Given the description of an element on the screen output the (x, y) to click on. 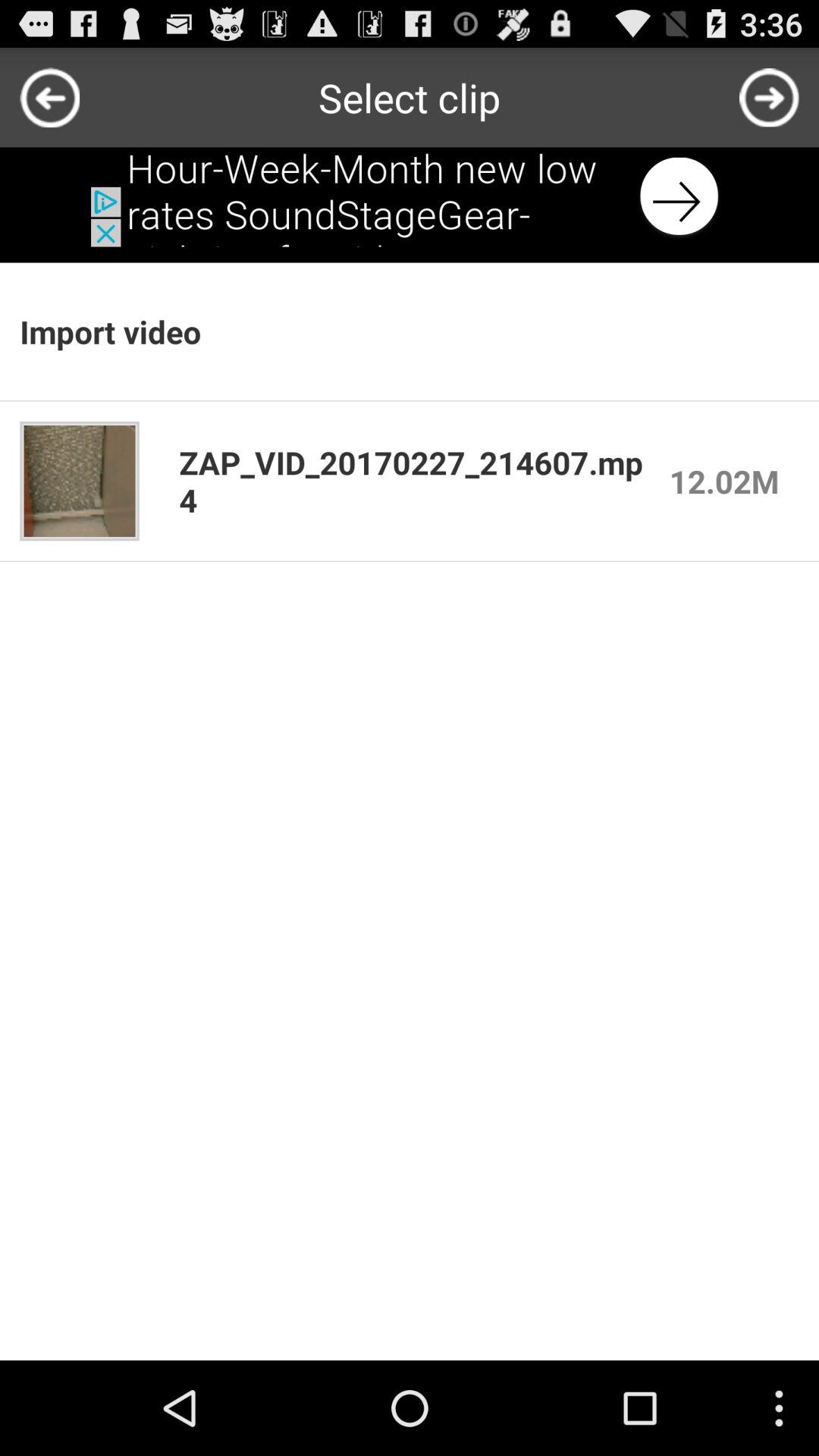
advertisement (409, 196)
